Given the description of an element on the screen output the (x, y) to click on. 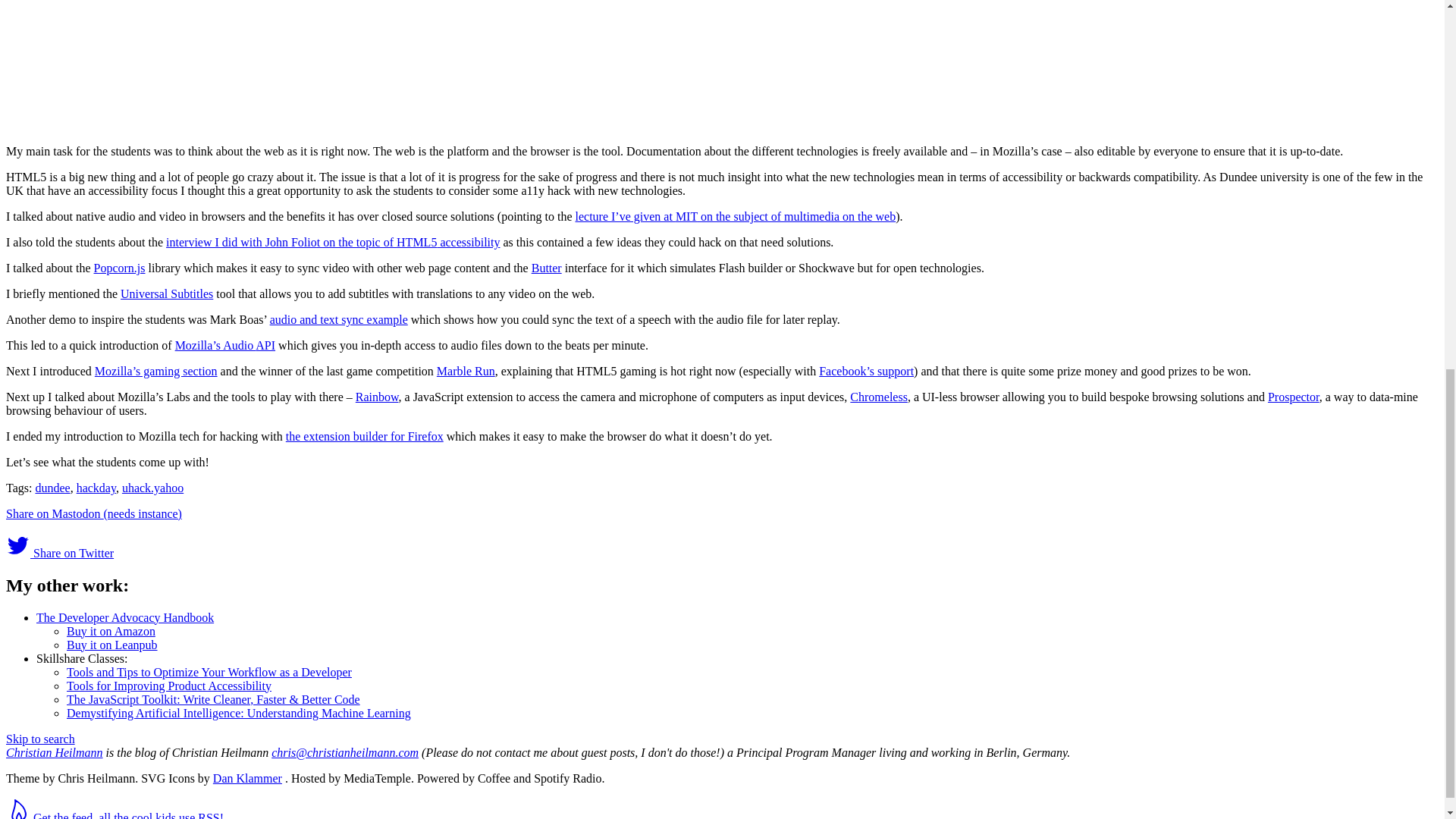
Chromeless (878, 396)
Buy it on Leanpub (111, 644)
uhack.yahoo (152, 487)
The Developer Advocacy Handbook (125, 617)
Share on Twitter (59, 553)
Butter (546, 267)
Popcorn.js (119, 267)
Tools for Improving Product Accessibility (168, 685)
Buy it on Amazon (110, 631)
Marble Run (465, 370)
